Given the description of an element on the screen output the (x, y) to click on. 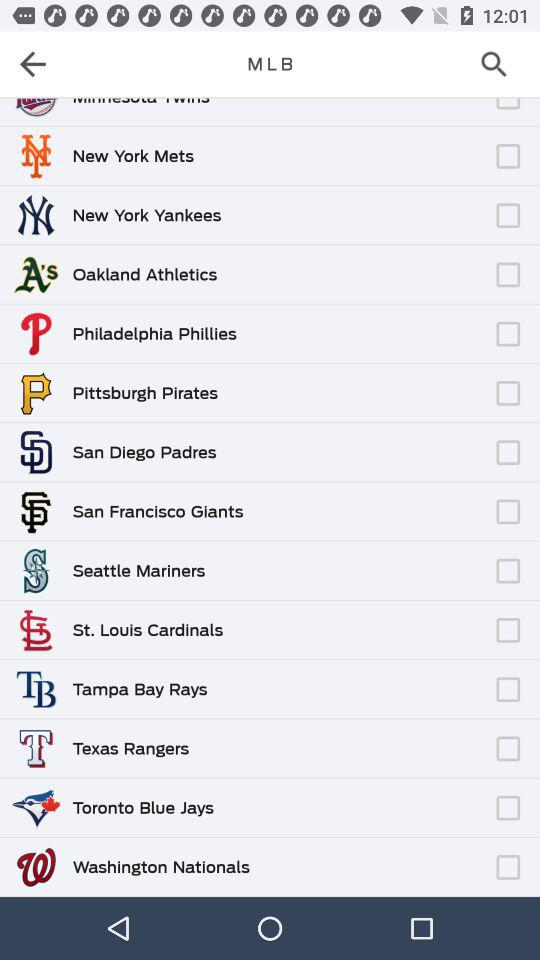
turn off philadelphia phillies (154, 333)
